Given the description of an element on the screen output the (x, y) to click on. 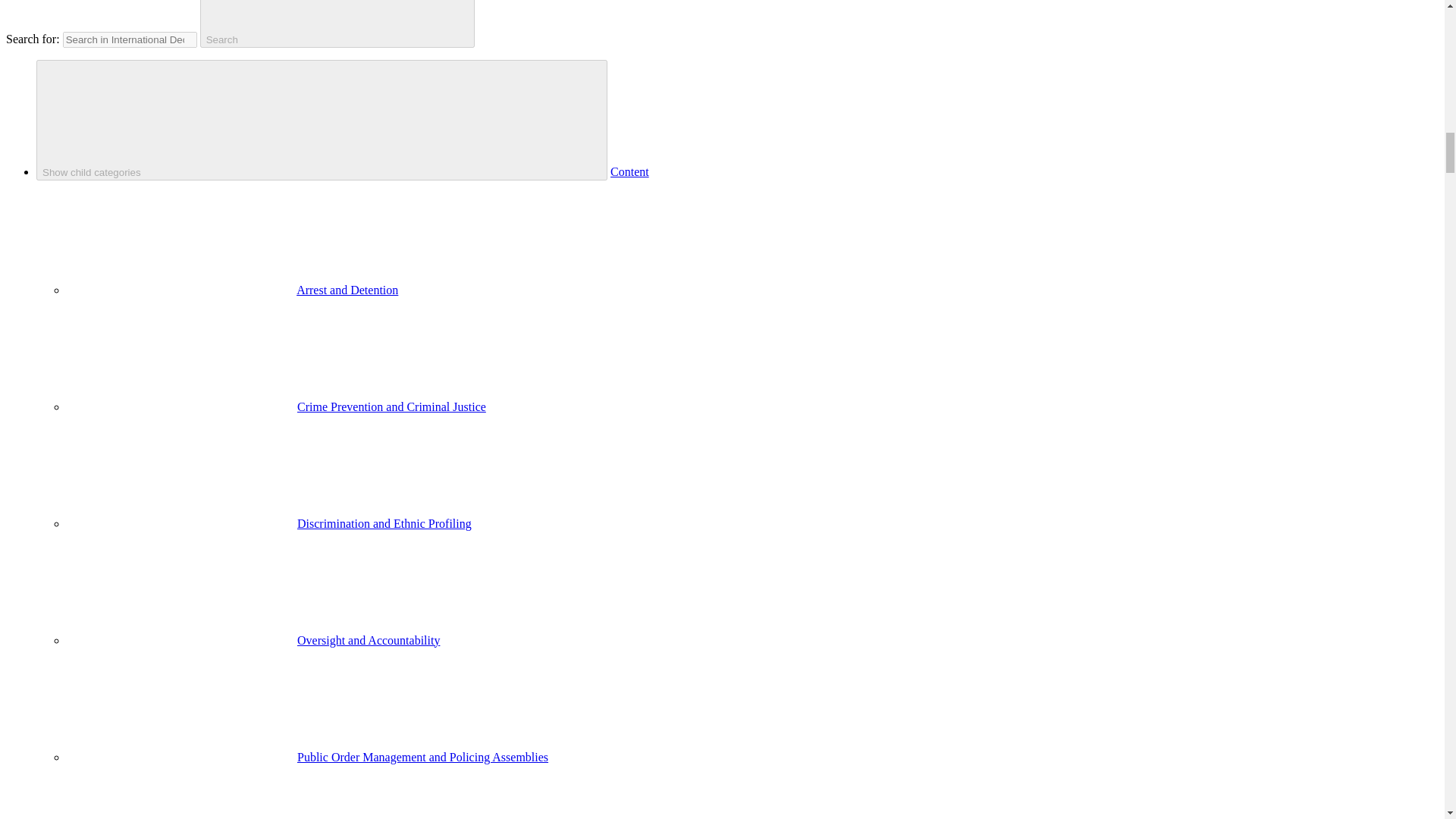
Public Order Management and Policing Assemblies (422, 757)
Arrest and Detention (347, 289)
Discrimination and Ethnic Profiling (384, 522)
Show child categories (321, 119)
Content (629, 171)
Crime Prevention and Criminal Justice (391, 406)
Oversight and Accountability (368, 640)
Search (337, 23)
